Given the description of an element on the screen output the (x, y) to click on. 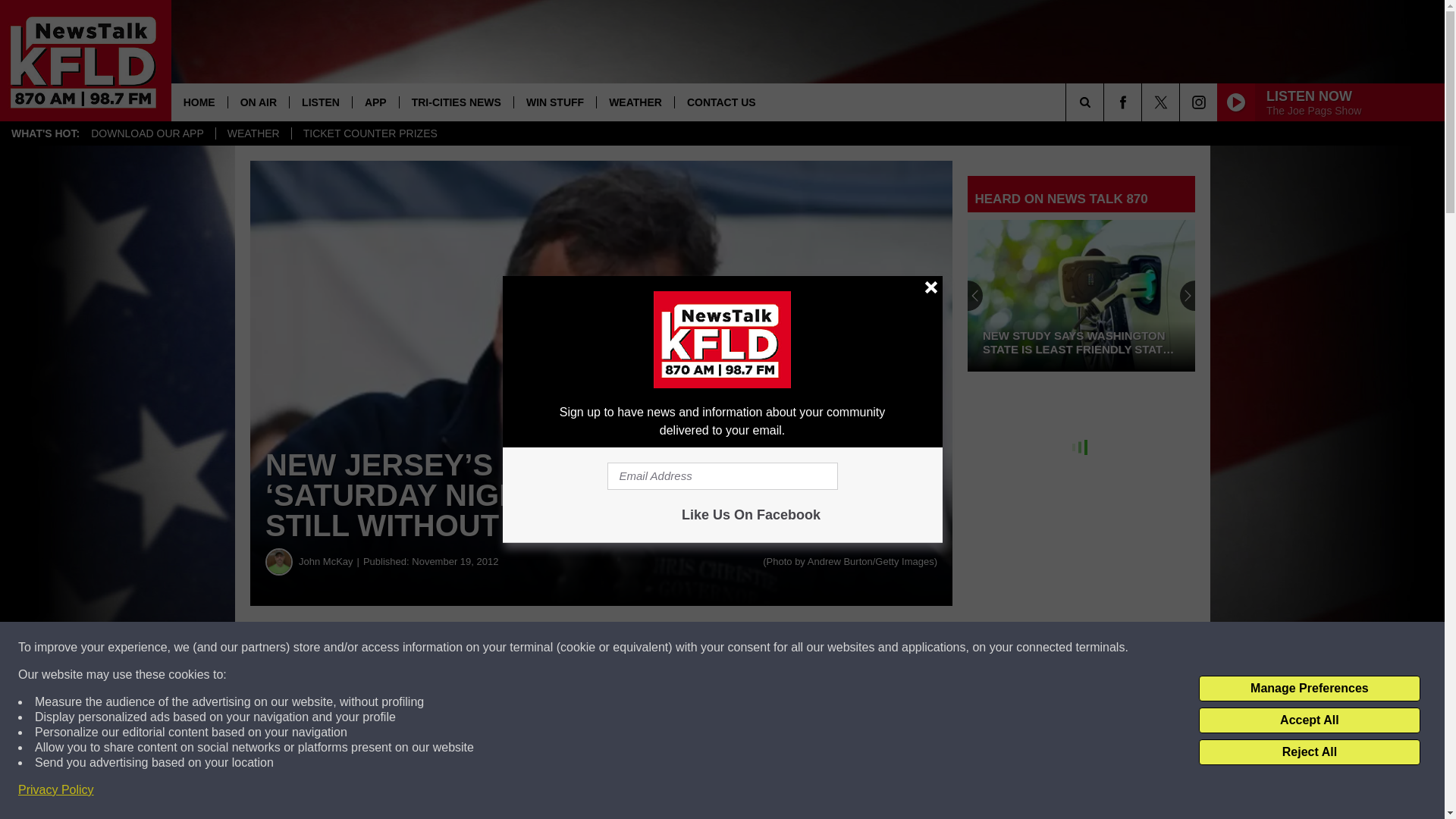
Email Address (722, 475)
Privacy Policy (55, 789)
Accept All (1309, 720)
WEATHER (253, 133)
TRI-CITIES NEWS (455, 102)
Manage Preferences (1309, 688)
Share on Facebook (460, 647)
WIN STUFF (554, 102)
APP (375, 102)
SEARCH (1106, 102)
TICKET COUNTER PRIZES (369, 133)
WEATHER (634, 102)
HOME (199, 102)
Share on Twitter (741, 647)
LISTEN (320, 102)
